Given the description of an element on the screen output the (x, y) to click on. 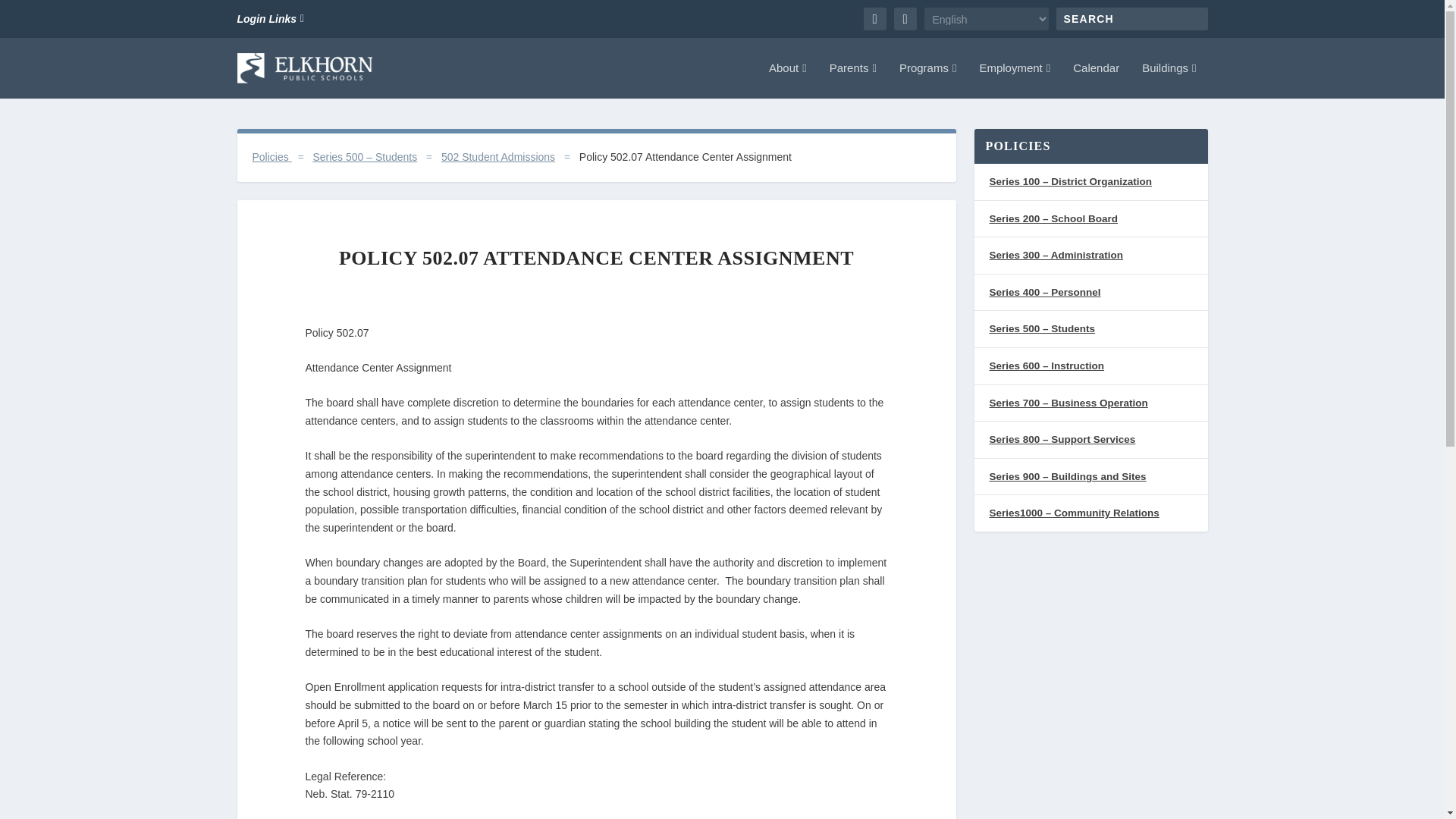
Go to 502 Student Admissions. (497, 156)
Search for: (1131, 18)
Twitter (904, 18)
About (787, 80)
Facebook (874, 18)
SEARCH (1216, 14)
Login Links (269, 18)
